Given the description of an element on the screen output the (x, y) to click on. 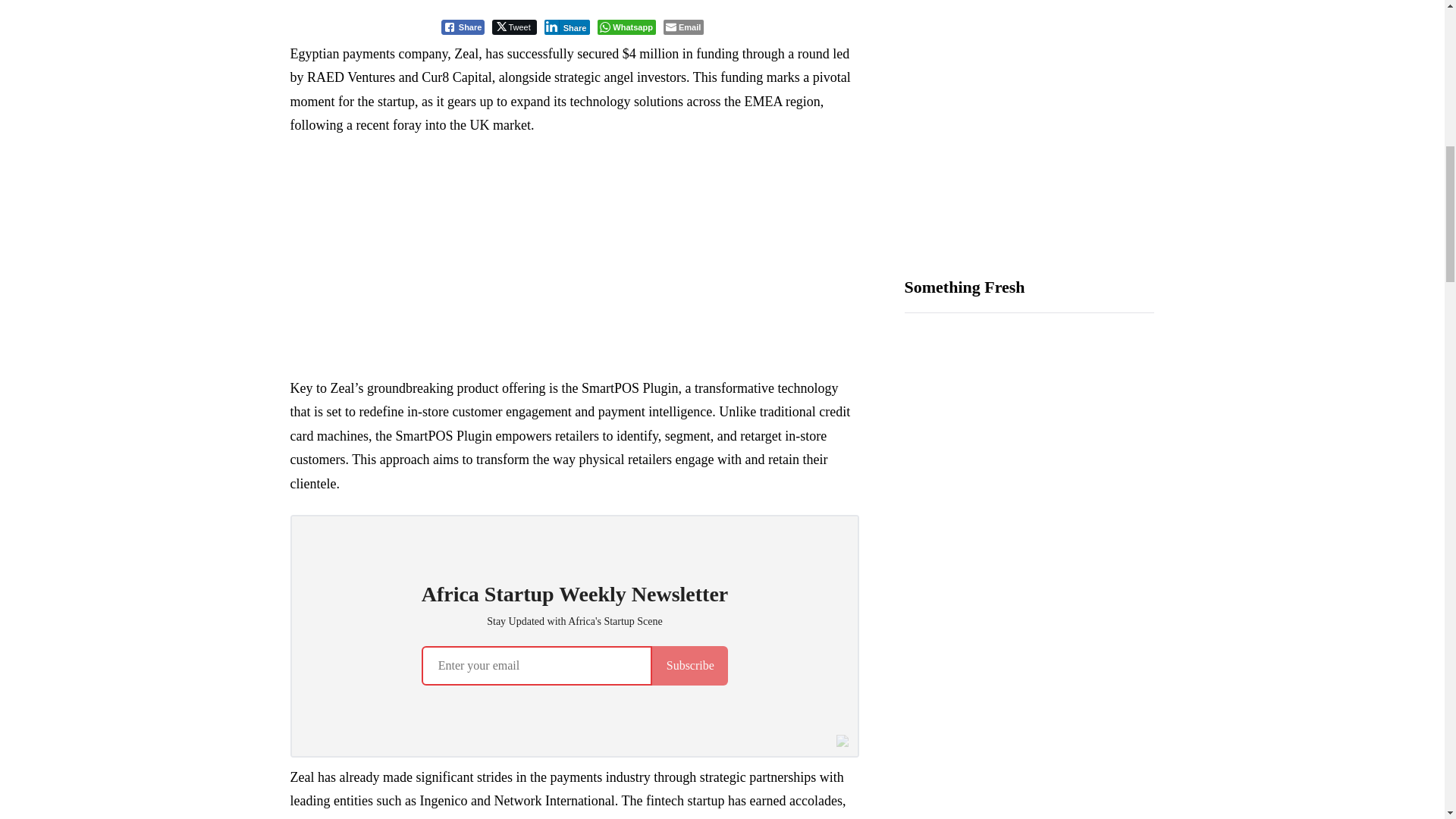
Share (462, 27)
Whatsapp (626, 27)
Tweet (513, 27)
Email (683, 27)
Share (567, 27)
